Given the description of an element on the screen output the (x, y) to click on. 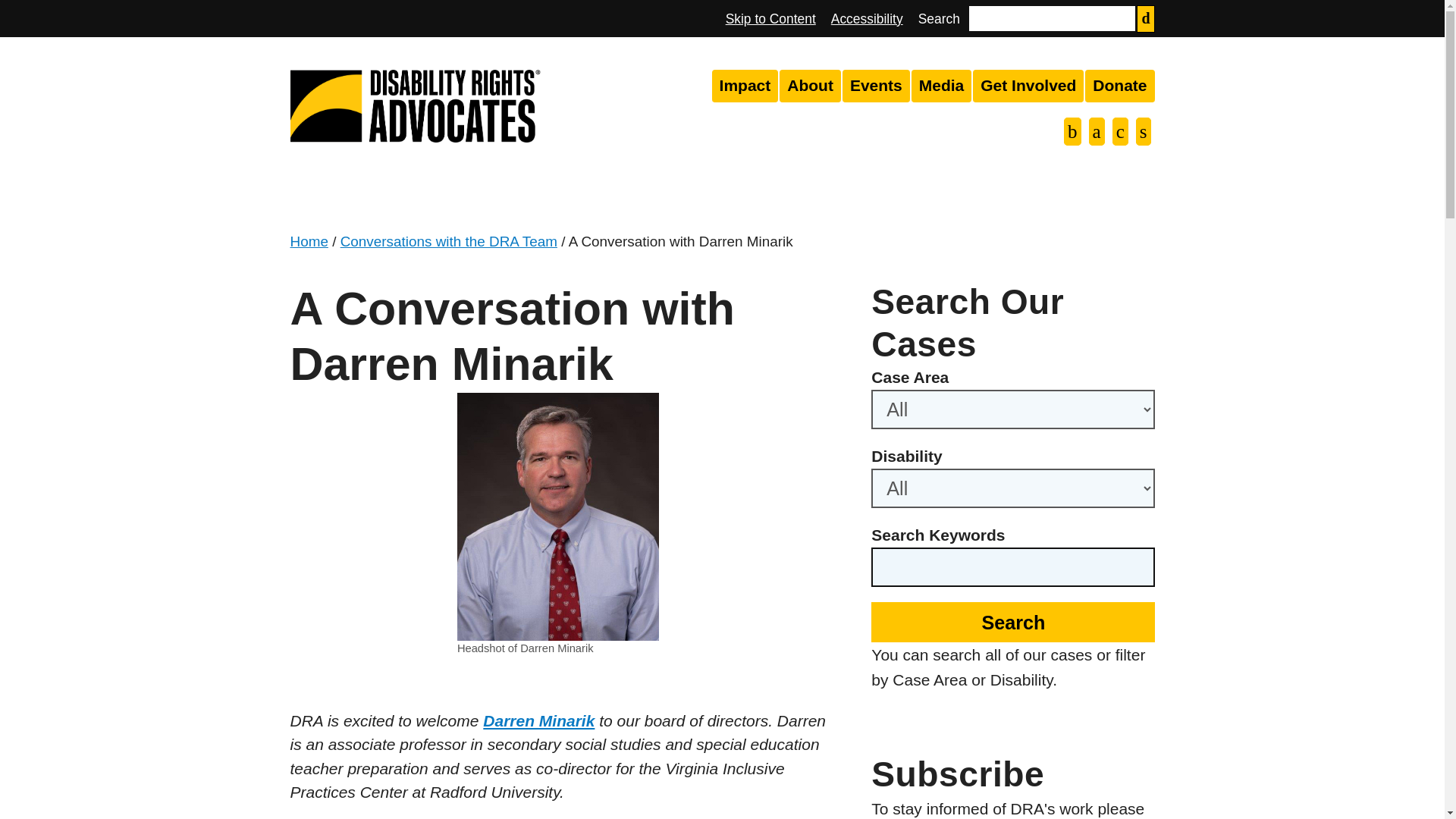
Skip to Content (770, 18)
Search (1012, 621)
Donate (1119, 85)
Media (941, 85)
Search (1012, 621)
Get Involved (1027, 85)
Events (876, 85)
Impact (744, 85)
About (809, 85)
Accessibility (866, 18)
